Given the description of an element on the screen output the (x, y) to click on. 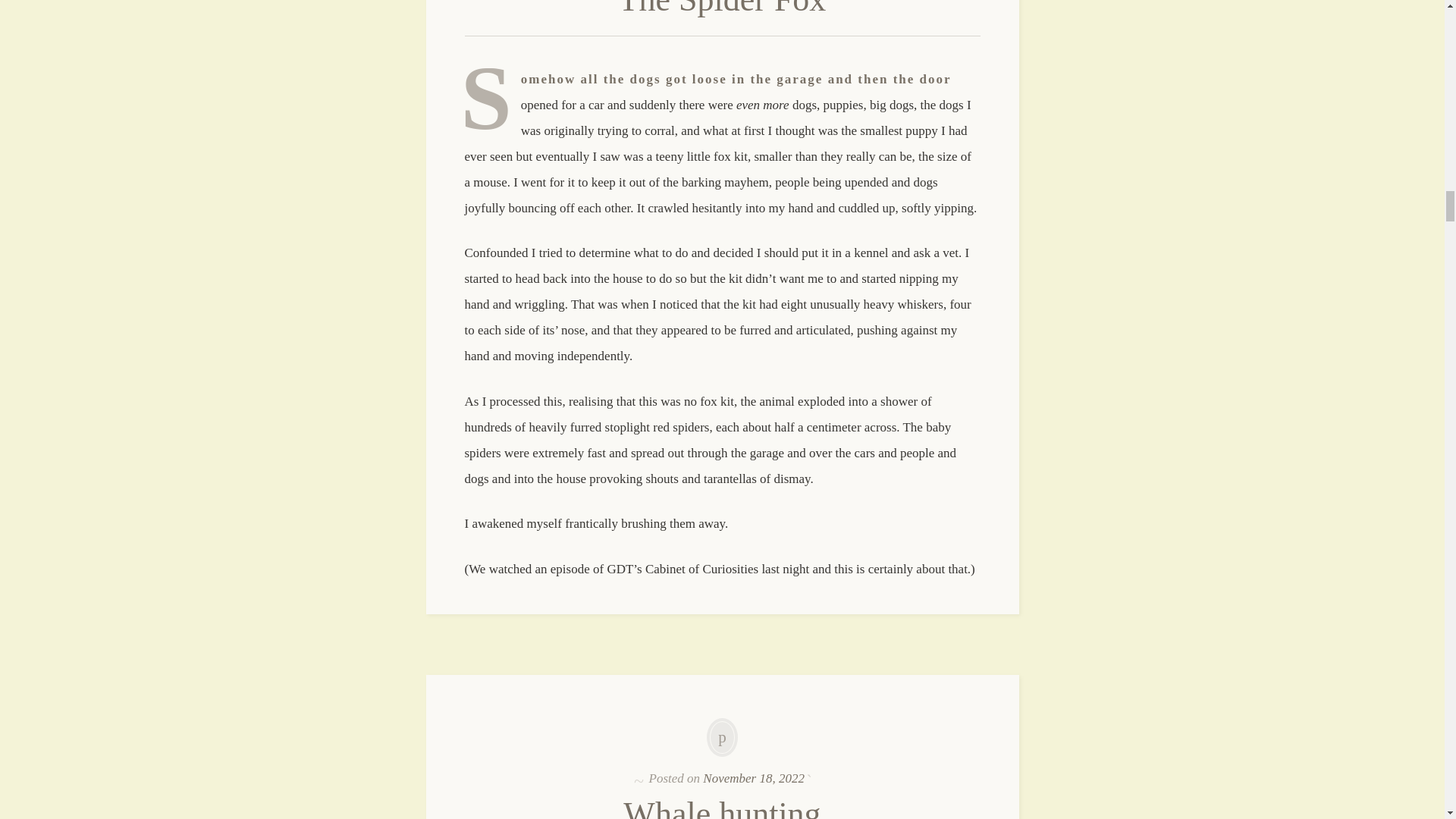
November 18, 2022 (754, 778)
The Spider Fox (722, 9)
Whale hunting (722, 807)
